Given the description of an element on the screen output the (x, y) to click on. 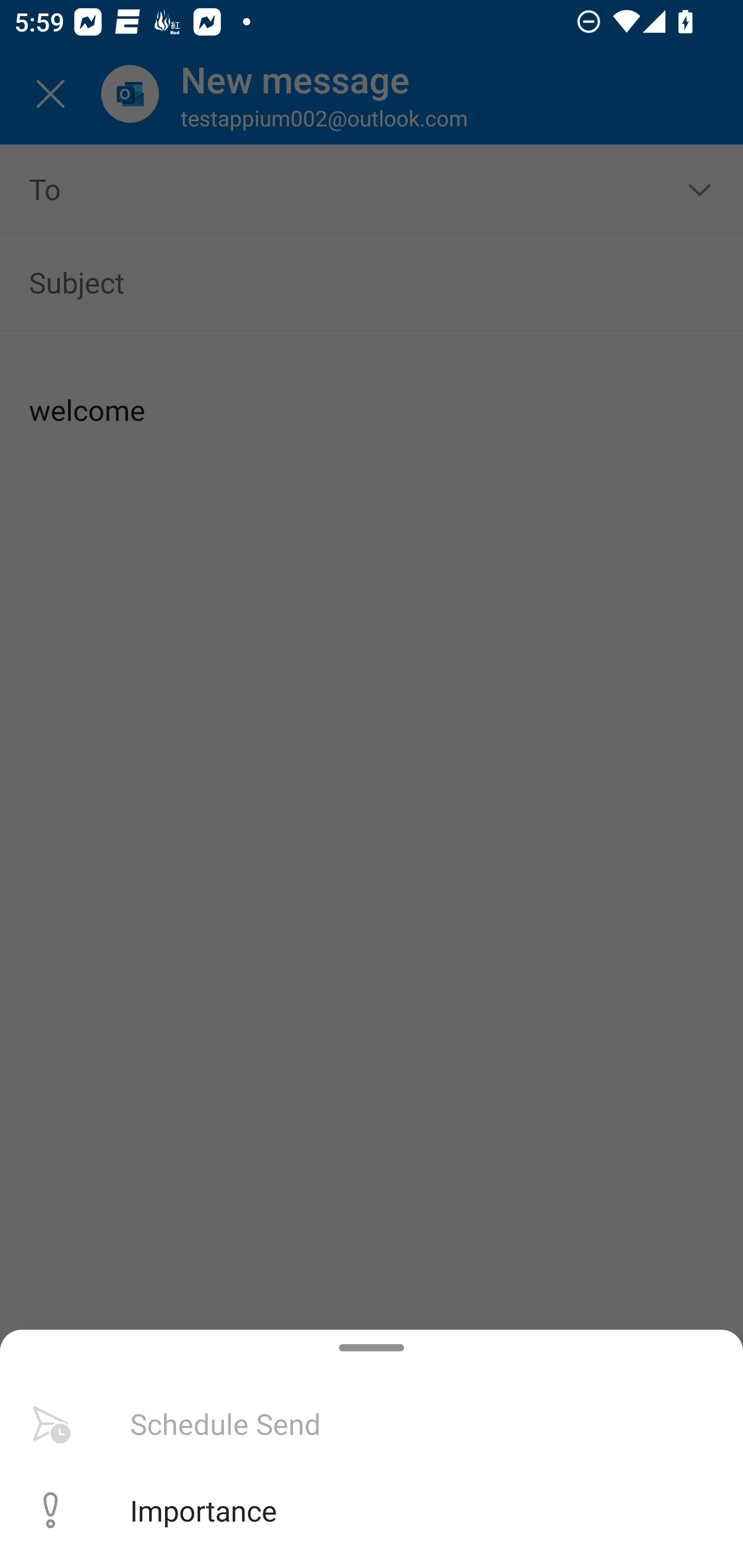
Schedule Send (371, 1423)
Importance (371, 1510)
